Given the description of an element on the screen output the (x, y) to click on. 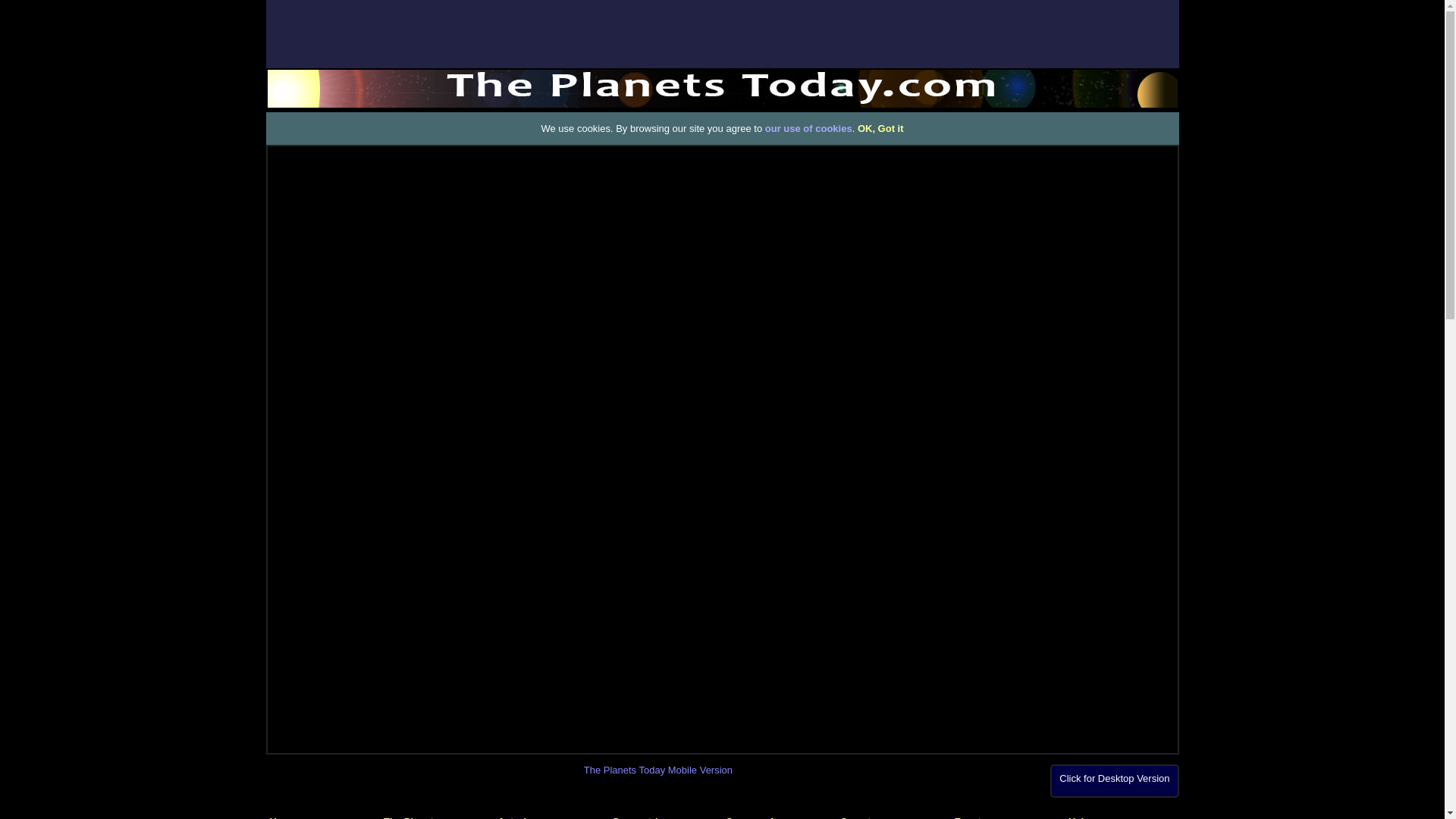
Astrology (526, 817)
Home (283, 817)
Events (970, 817)
Comets (858, 817)
Advertisement (60, 371)
Spacecraft (757, 817)
OK, Got it (880, 128)
Geocentric (637, 817)
our use of cookies (808, 128)
Help (1078, 817)
The Planets (417, 817)
The Planets Today Privacy Policy (808, 128)
Advertisement (721, 33)
